Given the description of an element on the screen output the (x, y) to click on. 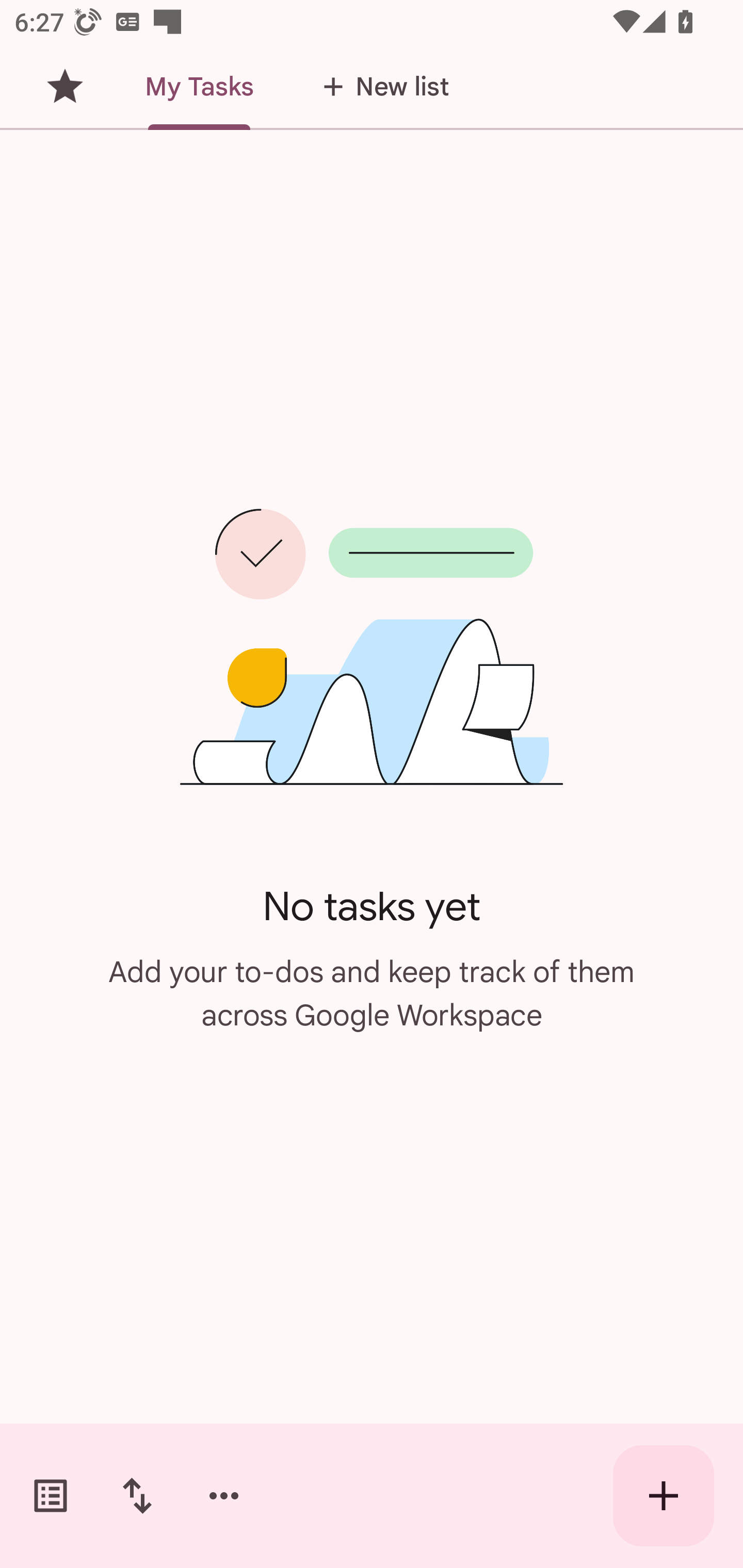
Starred (64, 86)
New list (380, 86)
Switch task lists (50, 1495)
Create new task (663, 1495)
Change sort order (136, 1495)
More options (223, 1495)
